Given the description of an element on the screen output the (x, y) to click on. 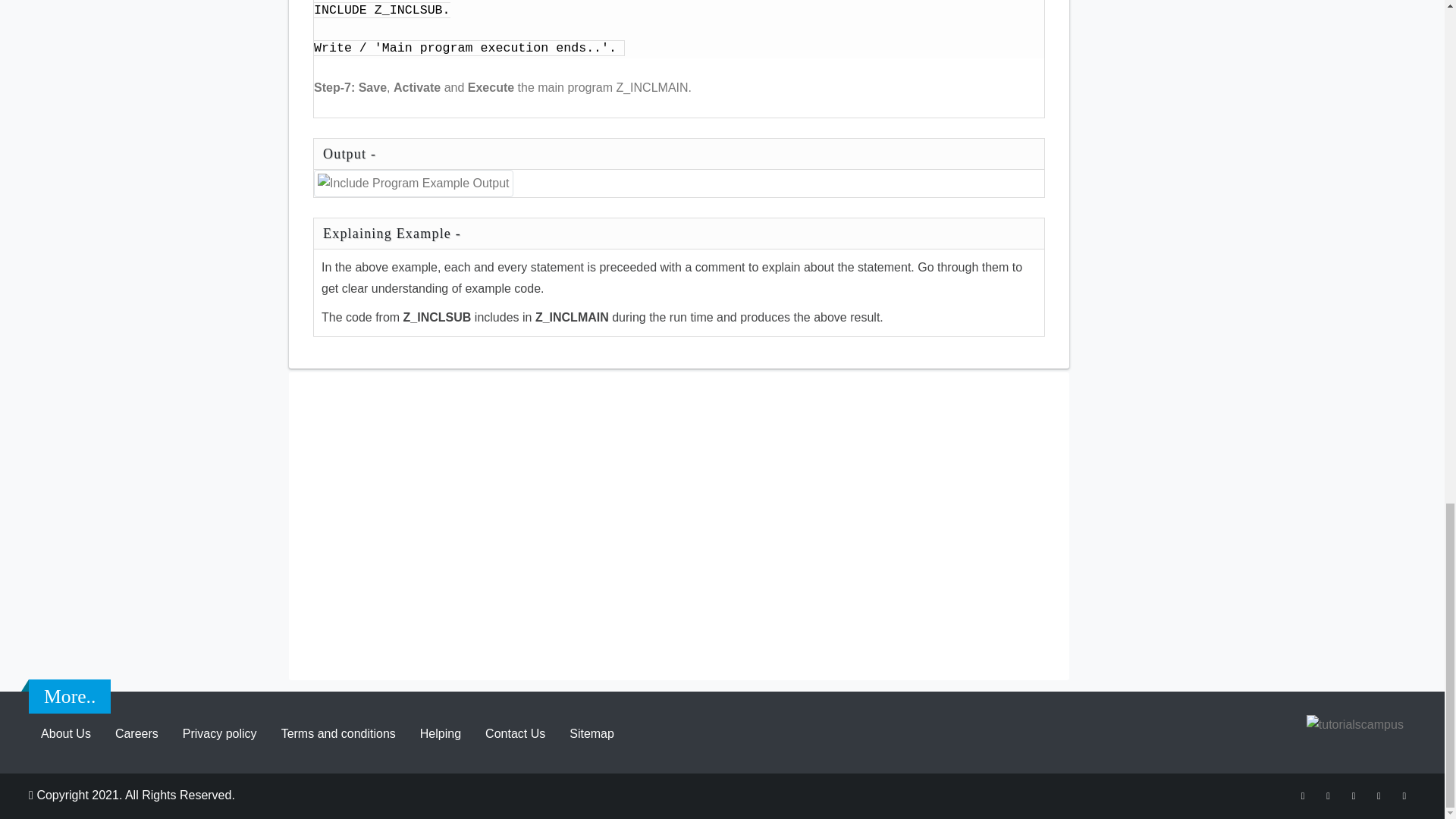
Instagram (1353, 795)
Linkedin (1404, 795)
Facebook (1302, 795)
Twitter (1328, 795)
Linkedin (1378, 795)
